Given the description of an element on the screen output the (x, y) to click on. 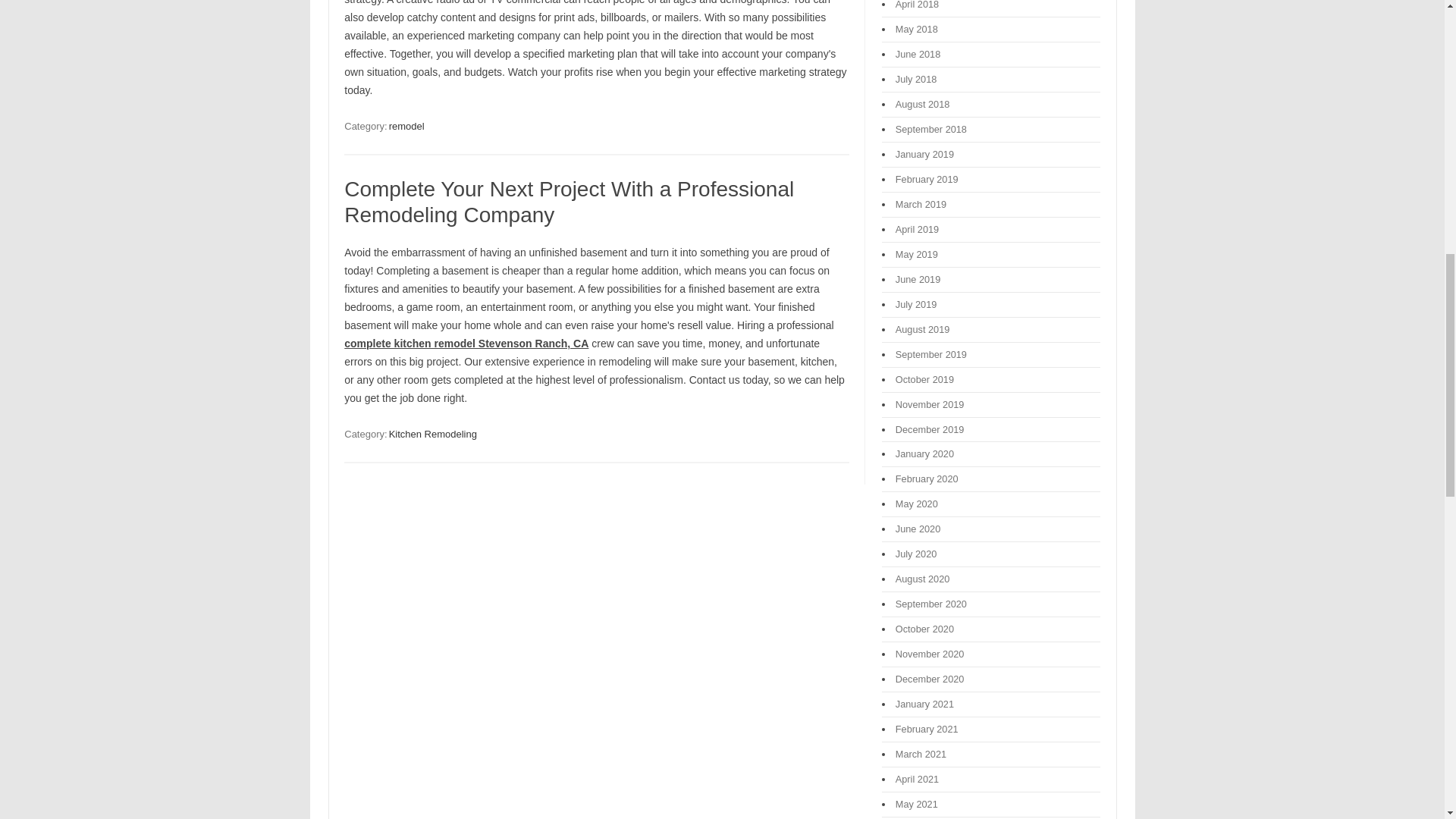
July 2018 (916, 79)
May 2018 (916, 29)
Kitchen Remodeling (433, 433)
remodel (406, 125)
June 2018 (917, 53)
View all posts in Kitchen Remodeling (433, 433)
April 2018 (917, 4)
View all posts in remodel (406, 125)
complete kitchen remodel Stevenson Ranch, CA (465, 343)
September 2018 (930, 129)
August 2018 (922, 103)
